Given the description of an element on the screen output the (x, y) to click on. 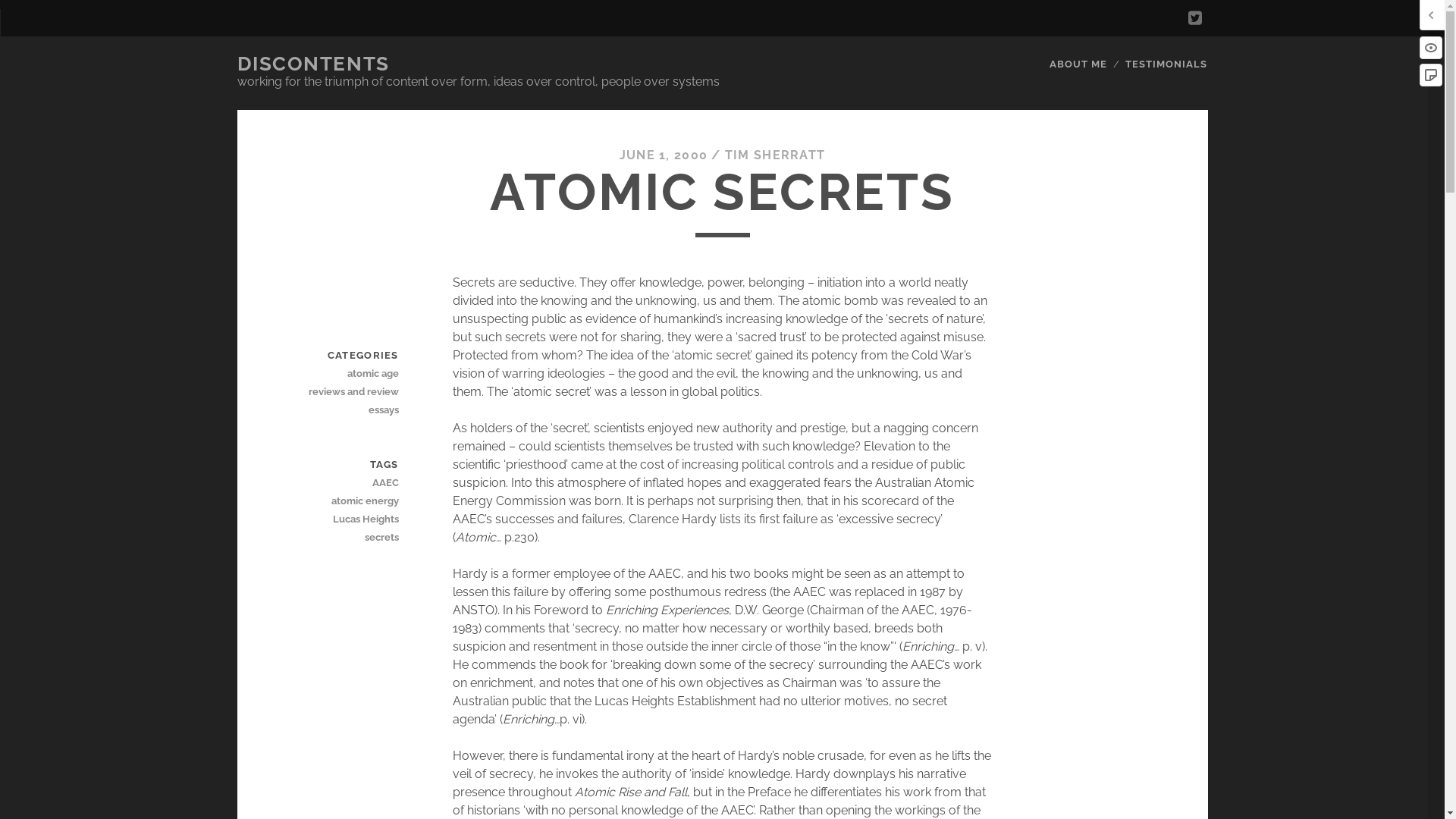
atomic age Element type: text (344, 373)
reviews and review essays Element type: text (344, 400)
AAEC Element type: text (344, 482)
atomic energy Element type: text (344, 501)
TESTIMONIALS Element type: text (1166, 64)
ABOUT ME Element type: text (1078, 64)
DISCONTENTS Element type: text (312, 63)
Lucas Heights Element type: text (344, 519)
secrets Element type: text (344, 537)
TIM SHERRATT Element type: text (774, 154)
